Given the description of an element on the screen output the (x, y) to click on. 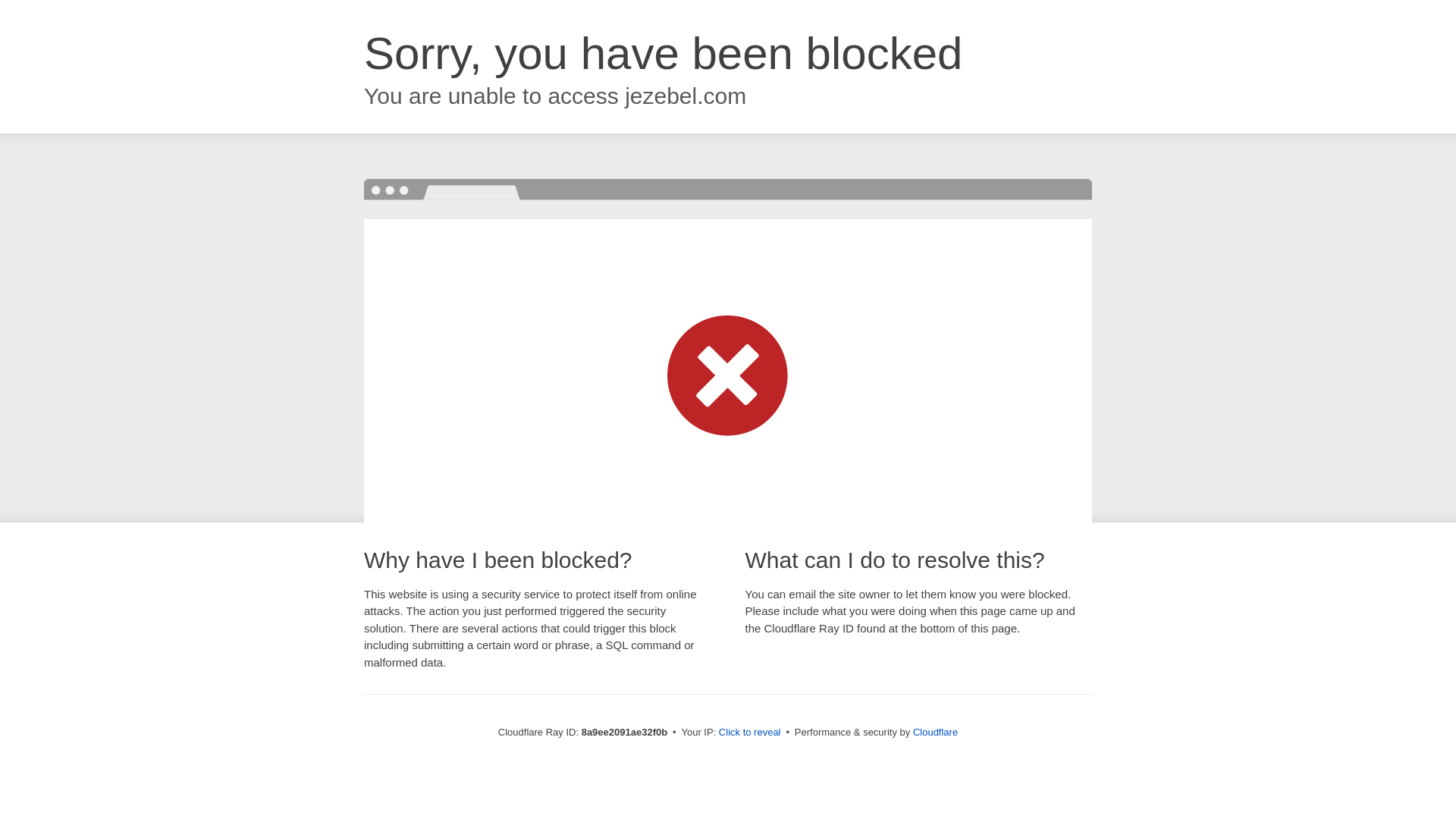
Cloudflare (935, 731)
Click to reveal (749, 732)
